Given the description of an element on the screen output the (x, y) to click on. 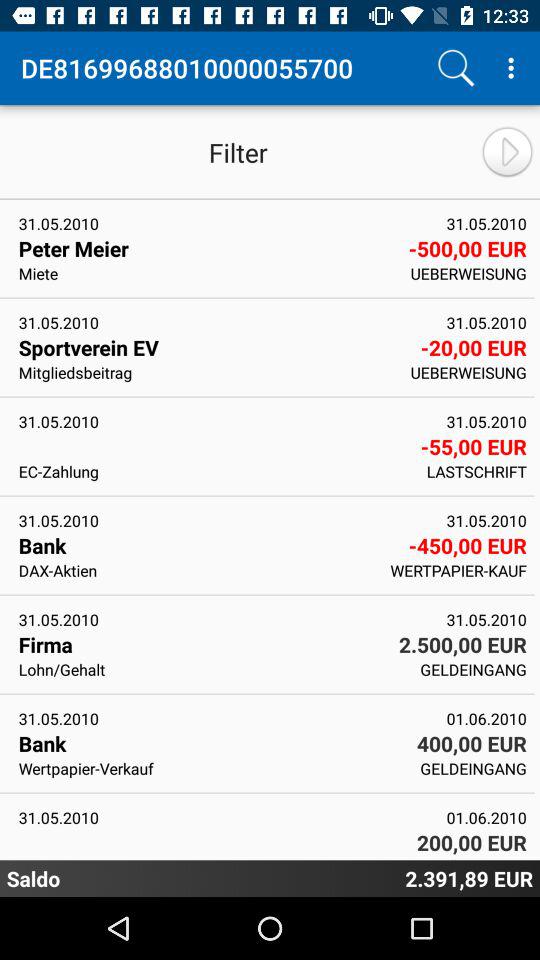
select lastschrift app (476, 471)
